Given the description of an element on the screen output the (x, y) to click on. 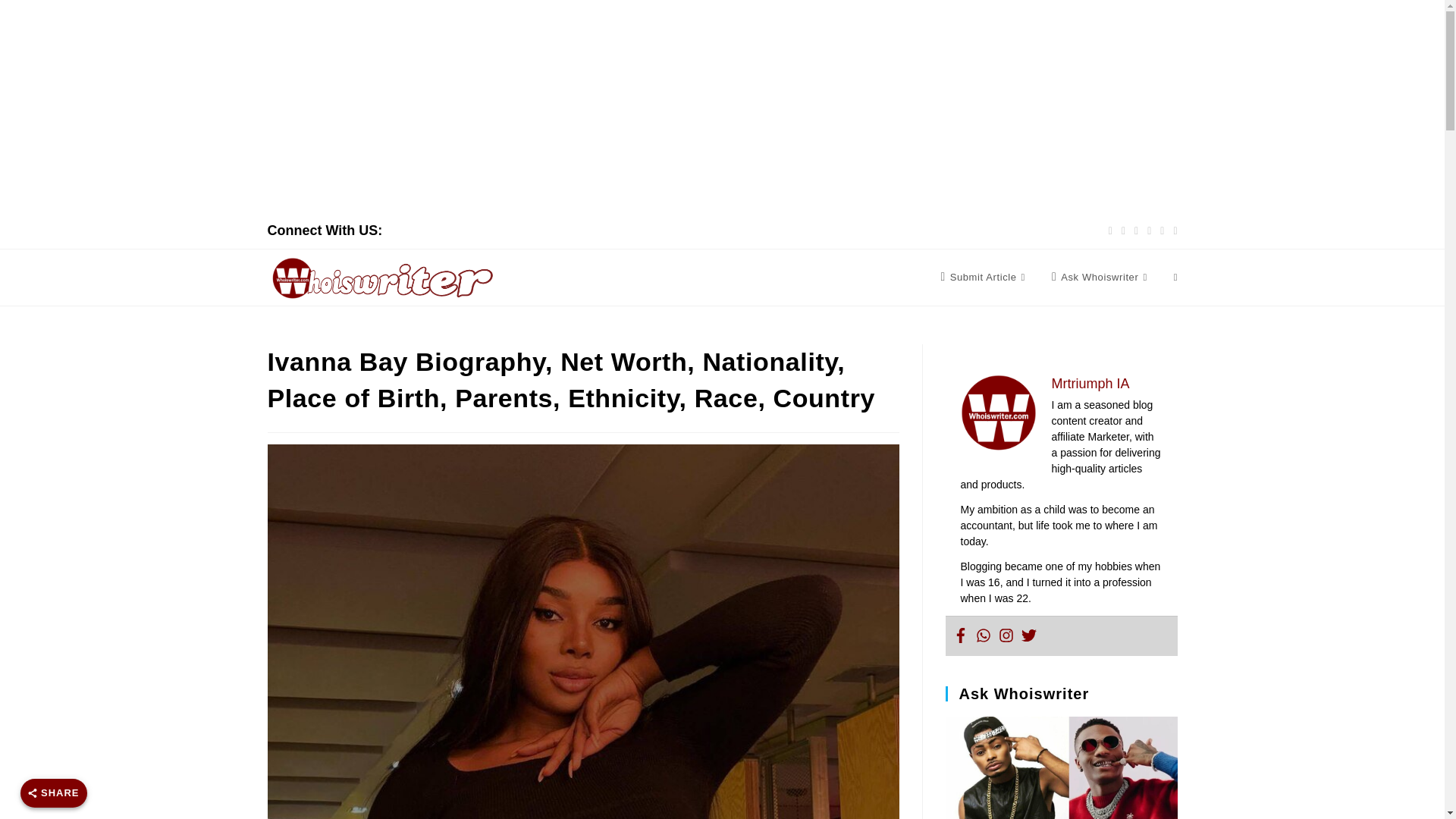
Ask Whoiswriter (1101, 277)
Submit Article (984, 277)
